Given the description of an element on the screen output the (x, y) to click on. 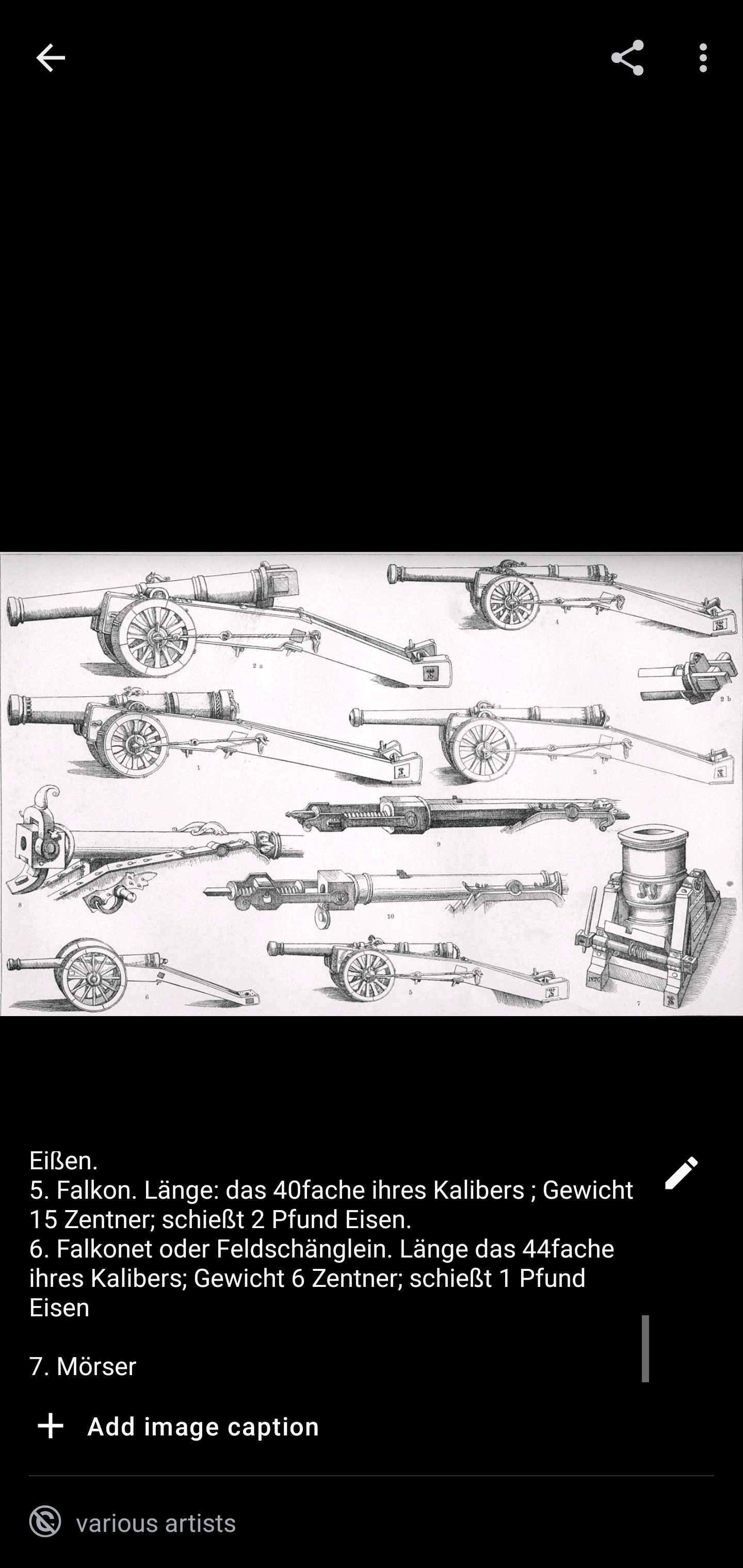
Navigate up (50, 57)
Share (626, 57)
More options (706, 57)
Edit image caption (681, 1177)
Add image caption (174, 1428)
Public domain (44, 1521)
